Given the description of an element on the screen output the (x, y) to click on. 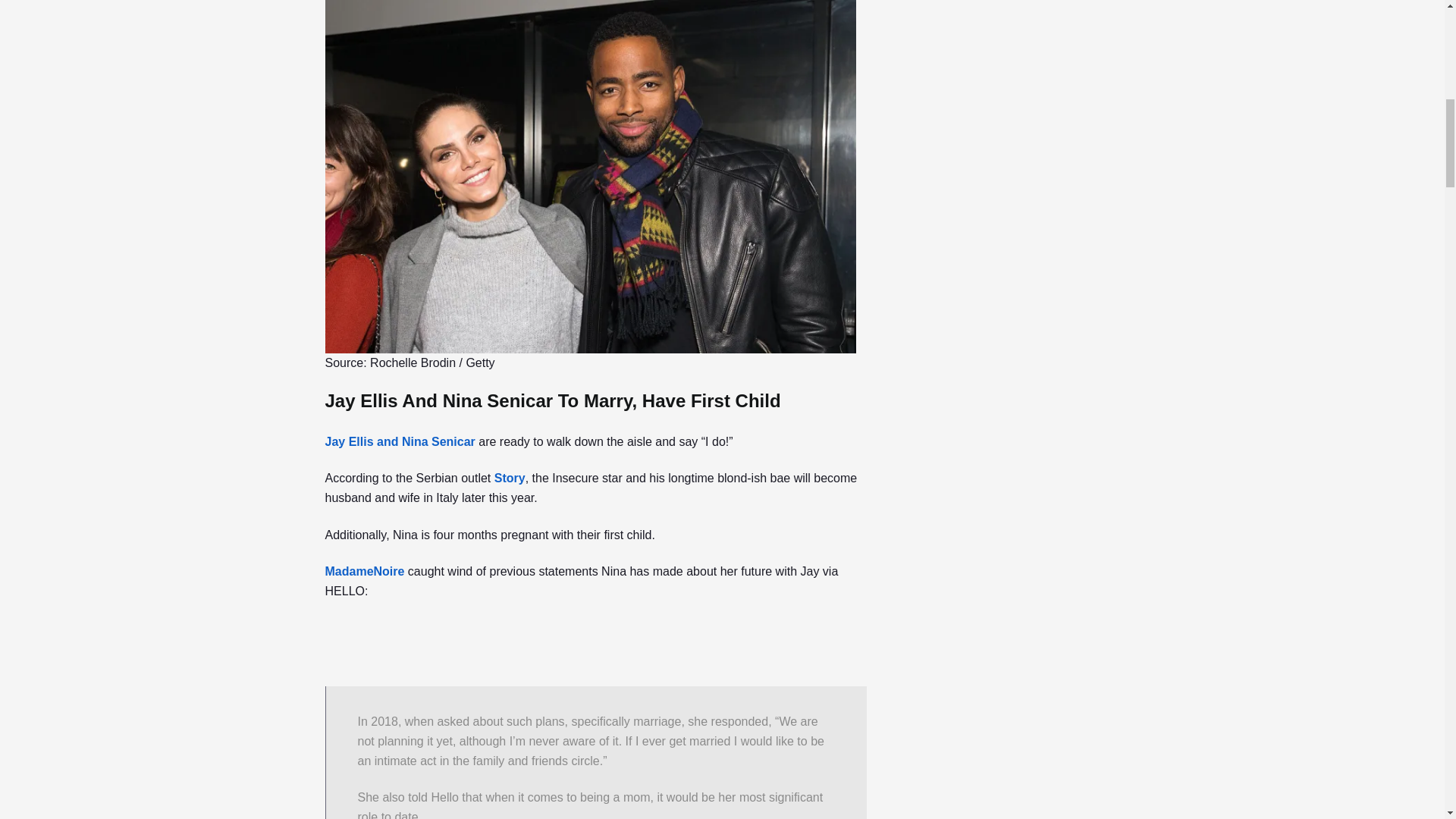
Story (510, 477)
Jay Ellis and Nina Senicar (399, 440)
MadameNoire (364, 571)
